Given the description of an element on the screen output the (x, y) to click on. 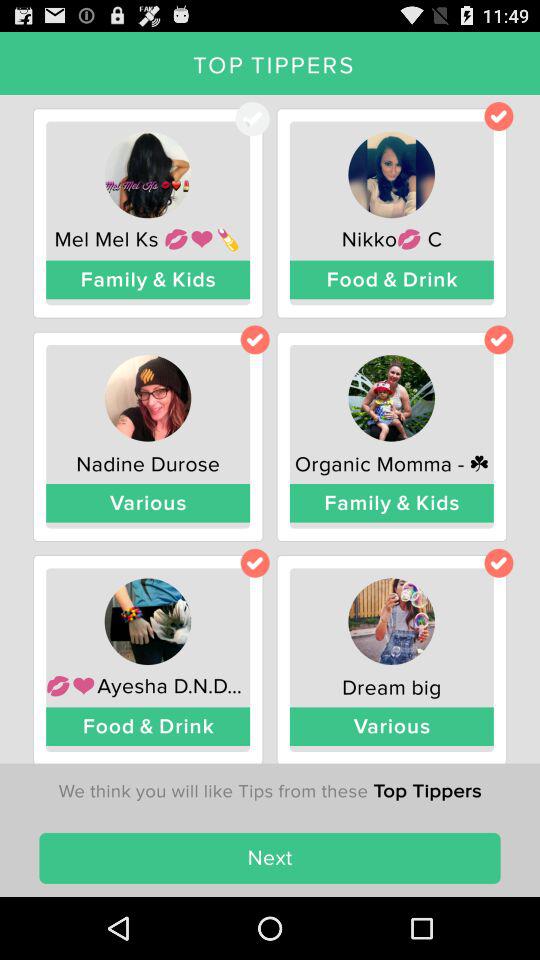
swipe to the next (269, 857)
